Given the description of an element on the screen output the (x, y) to click on. 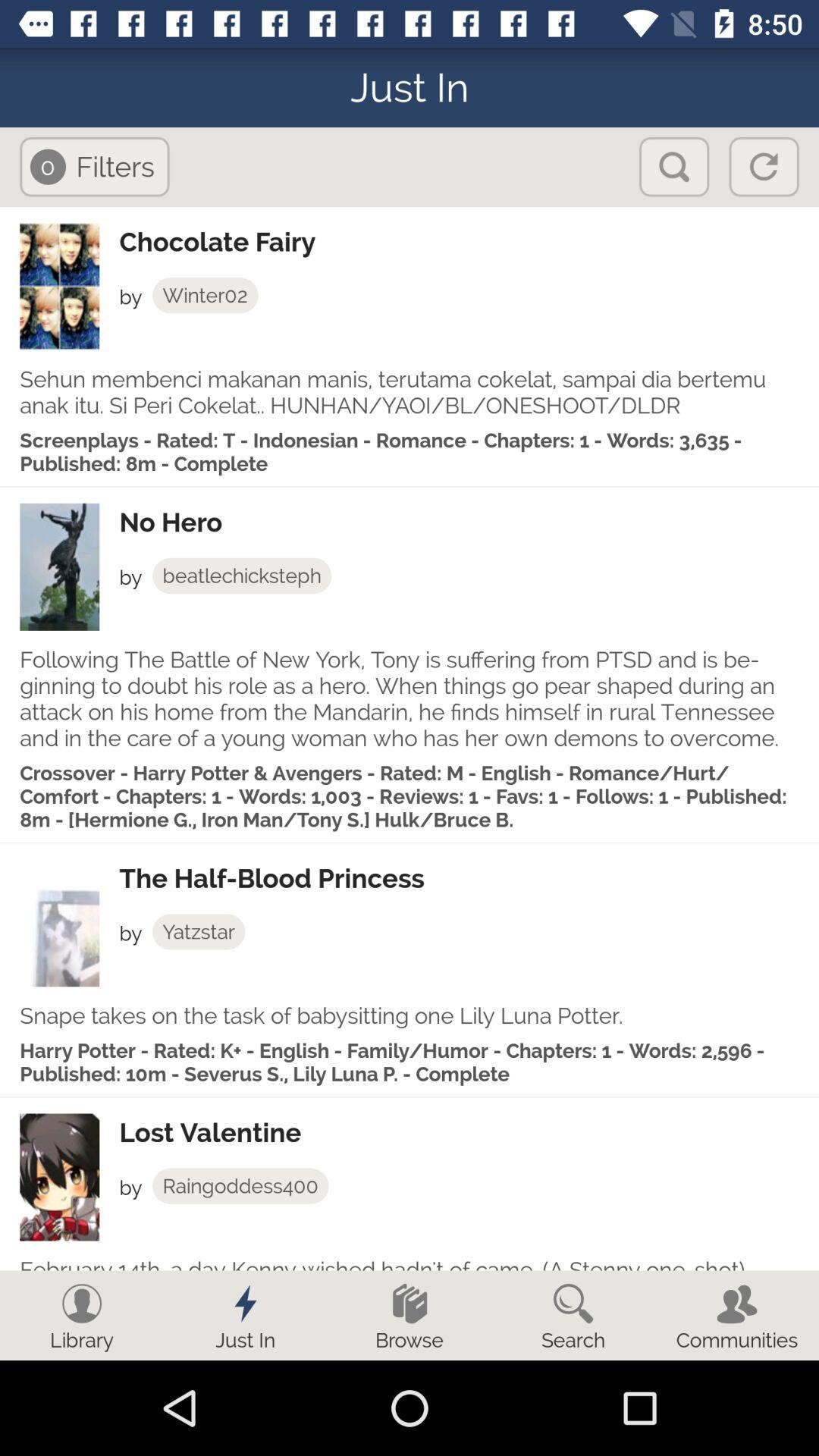
turn on the item below the harry potter rated item (469, 1132)
